Given the description of an element on the screen output the (x, y) to click on. 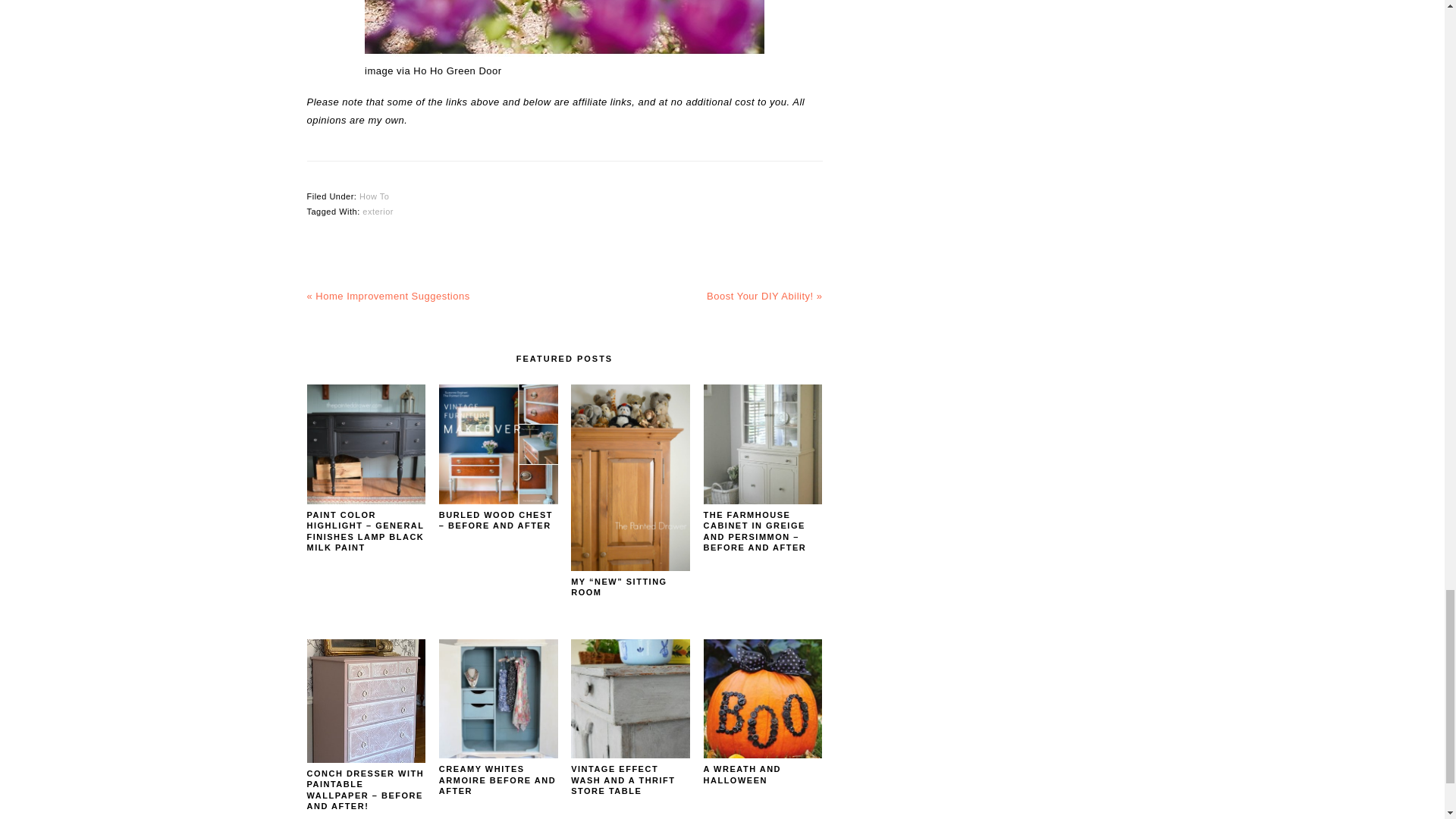
A WREATH AND HALLOWEEN (742, 773)
VINTAGE EFFECT WASH AND A THRIFT STORE TABLE (622, 779)
Creamy Whites Armoire Before and After (498, 754)
A Wreath and Halloween (762, 754)
How To (373, 195)
CREAMY WHITES ARMOIRE BEFORE AND AFTER (497, 779)
exterior (377, 211)
Vintage Effect Wash and a Thrift Store Table (630, 754)
